Given the description of an element on the screen output the (x, y) to click on. 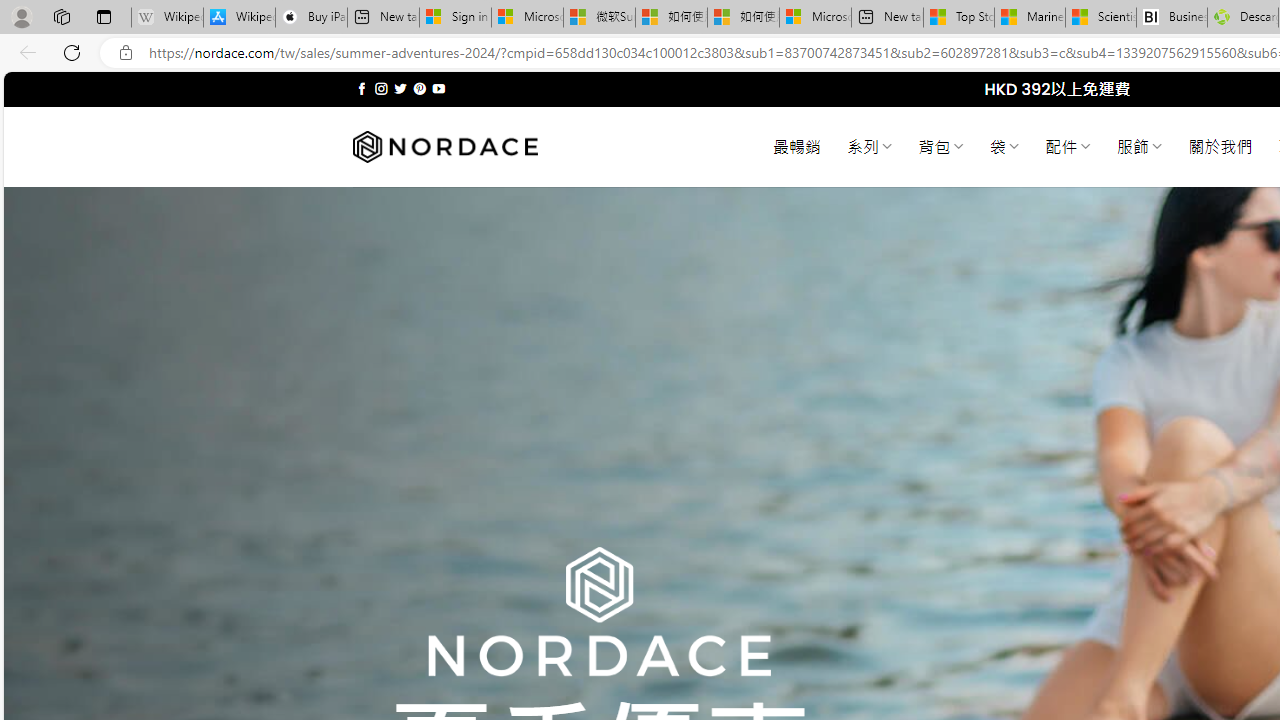
Nordace (444, 147)
Microsoft account | Account Checkup (815, 17)
Follow on Instagram (381, 88)
Follow on Pinterest (419, 88)
